Given the description of an element on the screen output the (x, y) to click on. 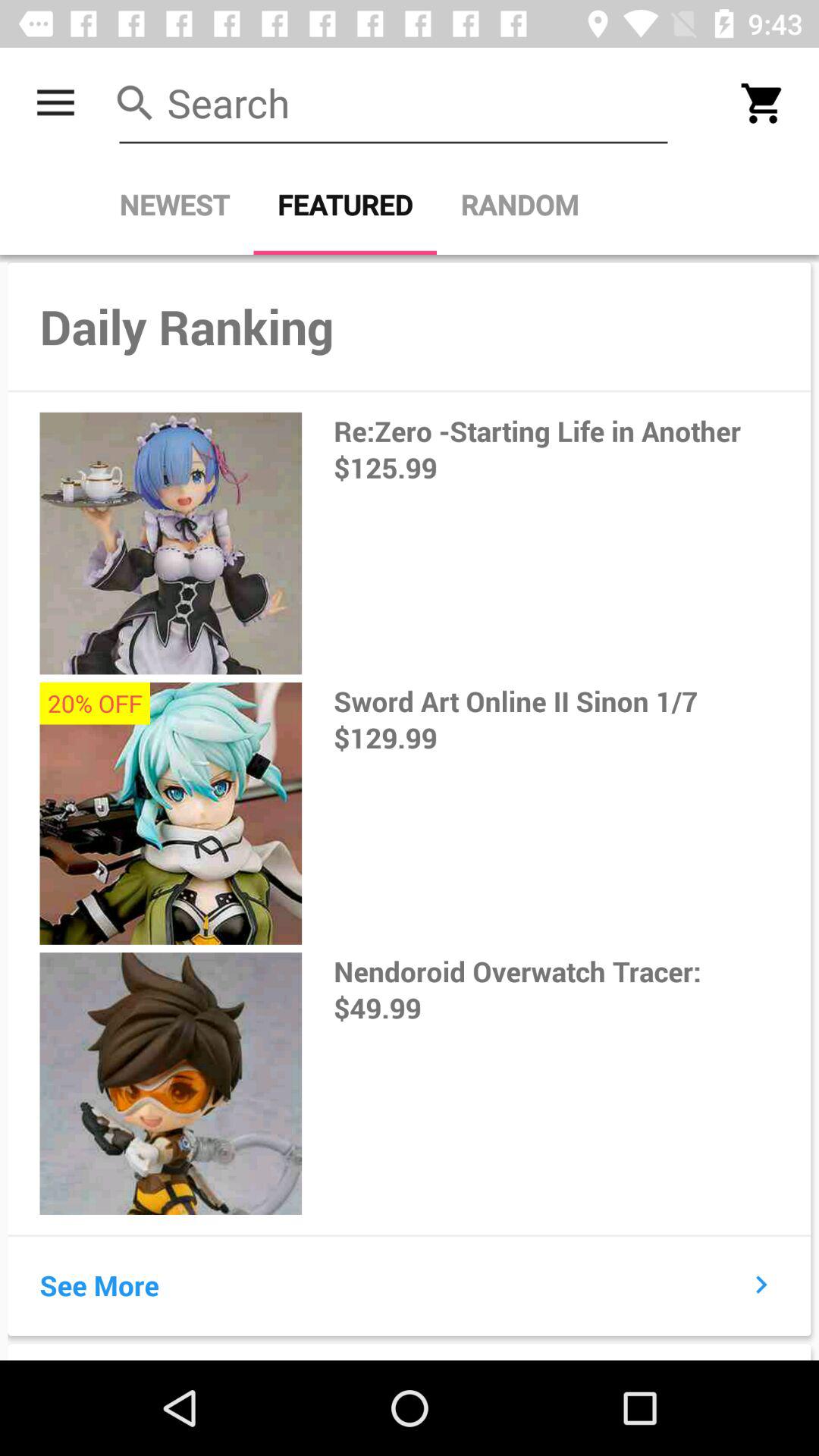
turn off item to the left of featured (174, 204)
